Given the description of an element on the screen output the (x, y) to click on. 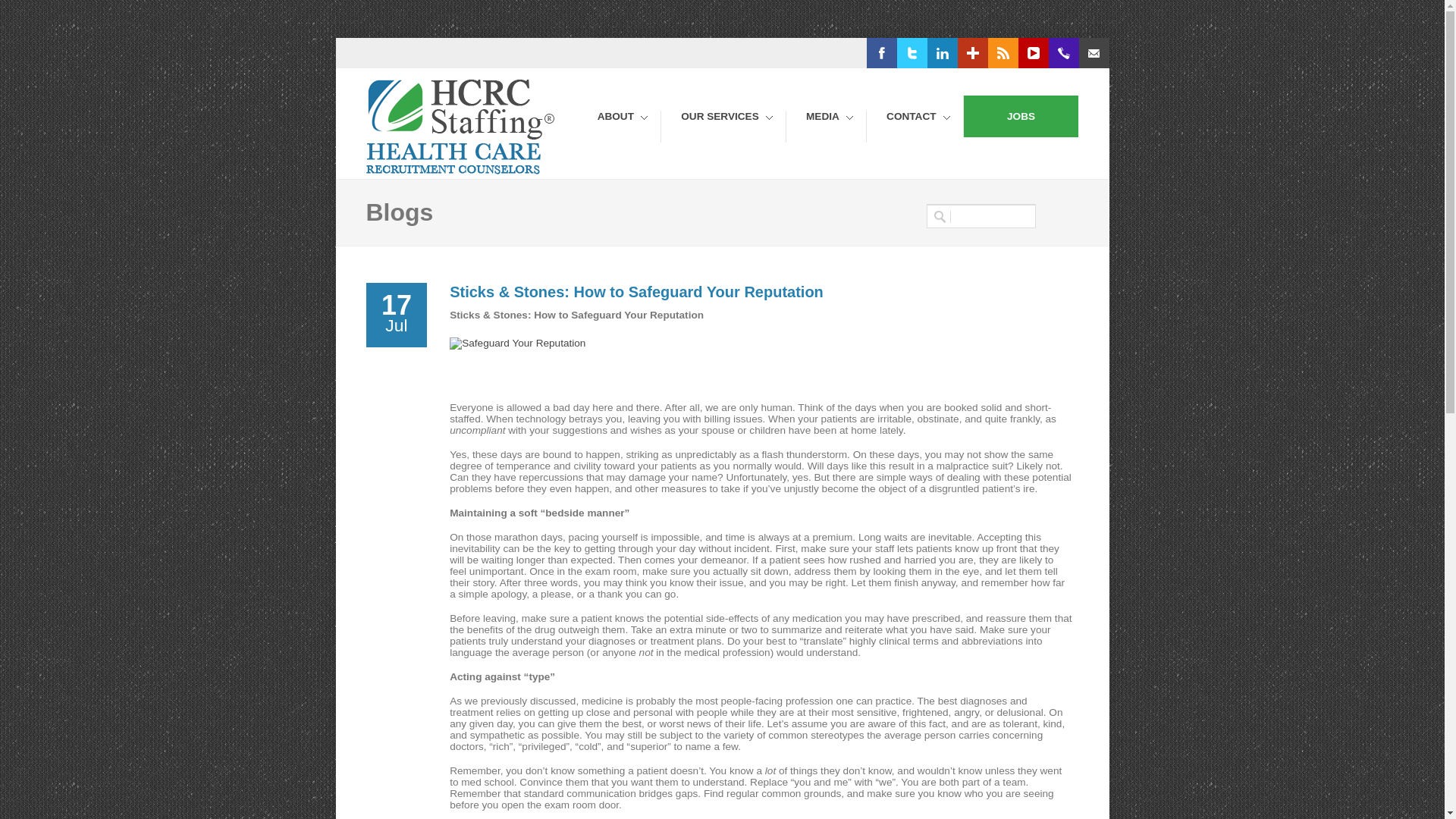
Facebook (906, 53)
Video (1055, 53)
CONTACT (913, 126)
JOBS (1020, 116)
Linkedin (965, 53)
ABOUT (618, 126)
RSS (1016, 53)
YouTube (1055, 53)
Twitter (930, 53)
Home (462, 170)
Email (1150, 53)
Facebook (906, 53)
Linked In (965, 53)
MEDIA (825, 126)
Phone (1095, 53)
